Given the description of an element on the screen output the (x, y) to click on. 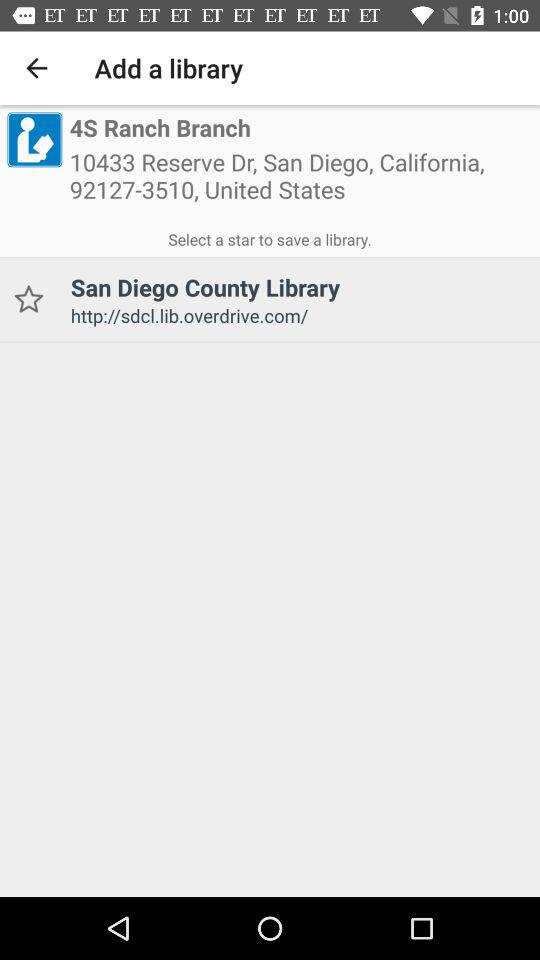
jump until select a star (269, 236)
